Given the description of an element on the screen output the (x, y) to click on. 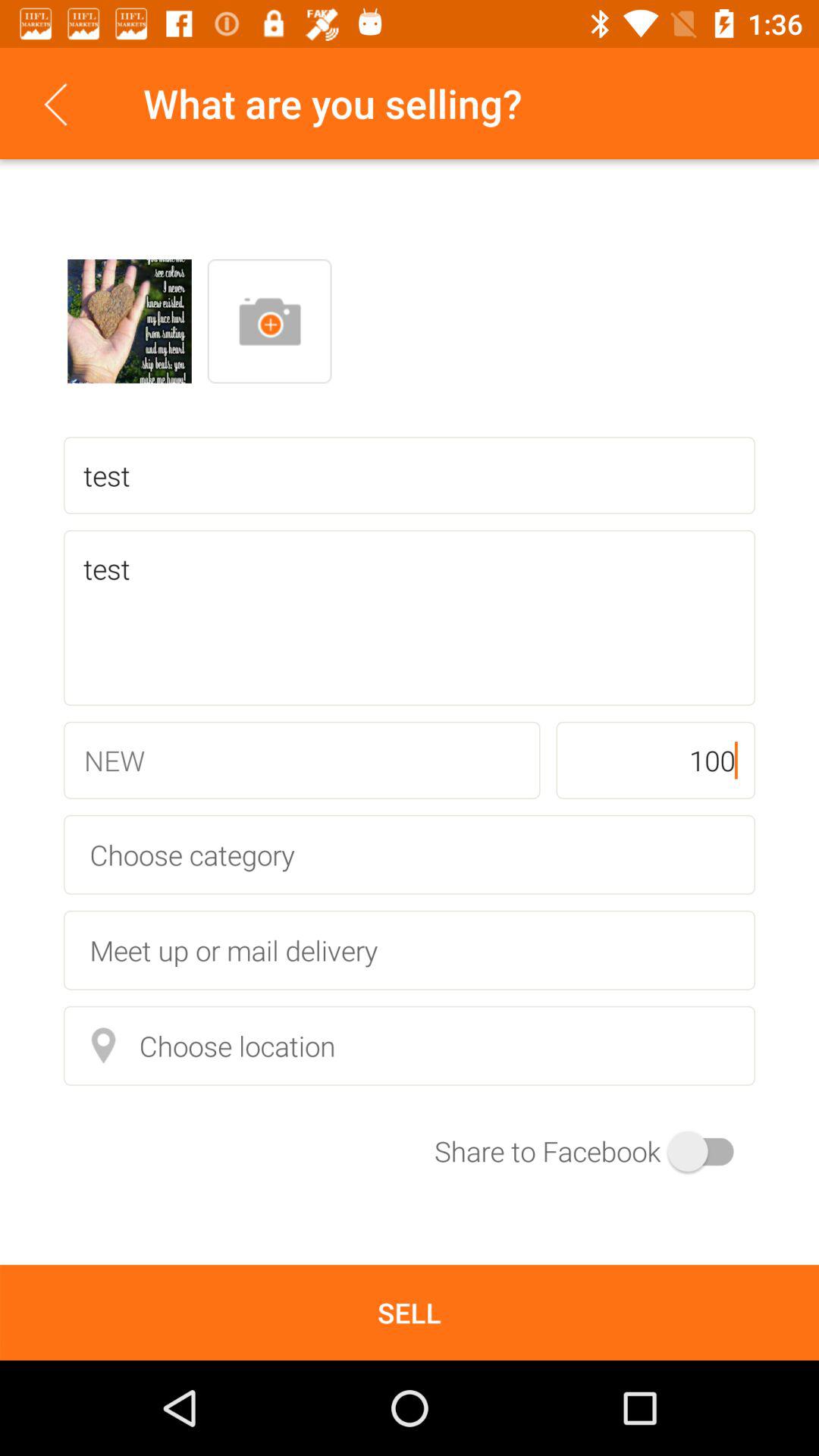
view photo (129, 320)
